Given the description of an element on the screen output the (x, y) to click on. 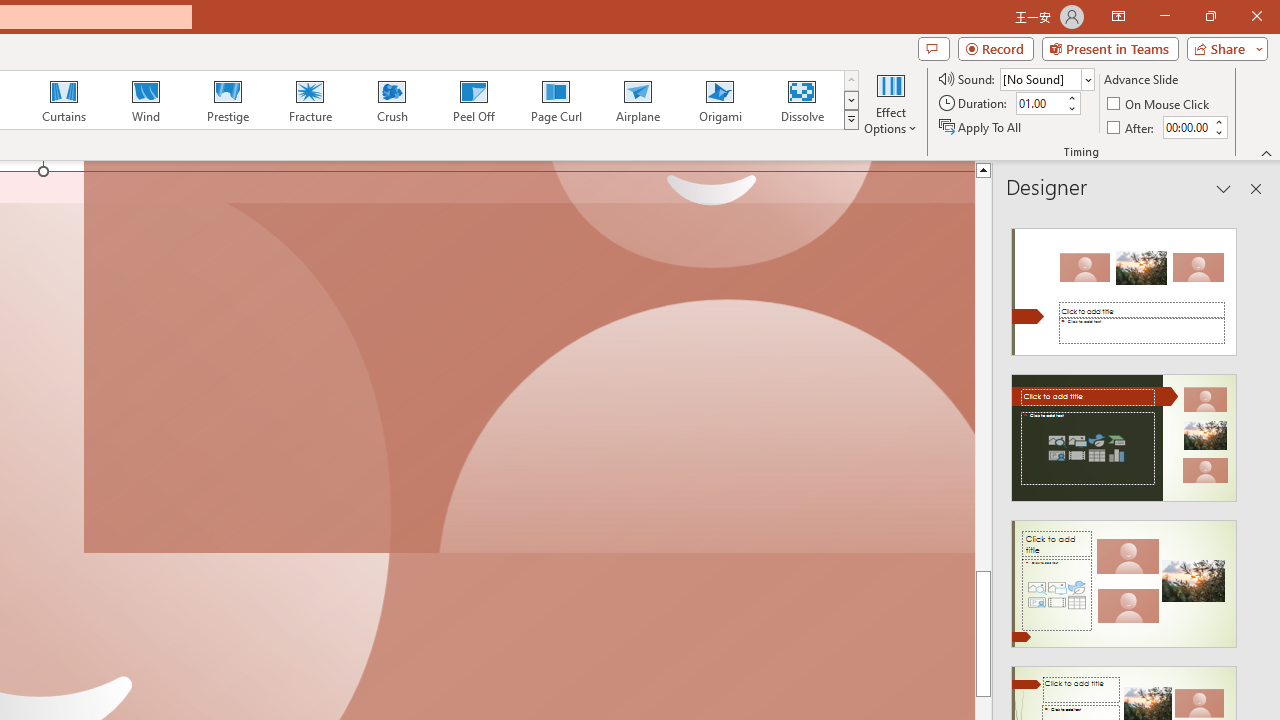
Page Curl (555, 100)
Wind (145, 100)
After (1131, 126)
Duration (1039, 103)
On Mouse Click (1159, 103)
Dissolve (802, 100)
Recommended Design: Design Idea (1124, 286)
